Given the description of an element on the screen output the (x, y) to click on. 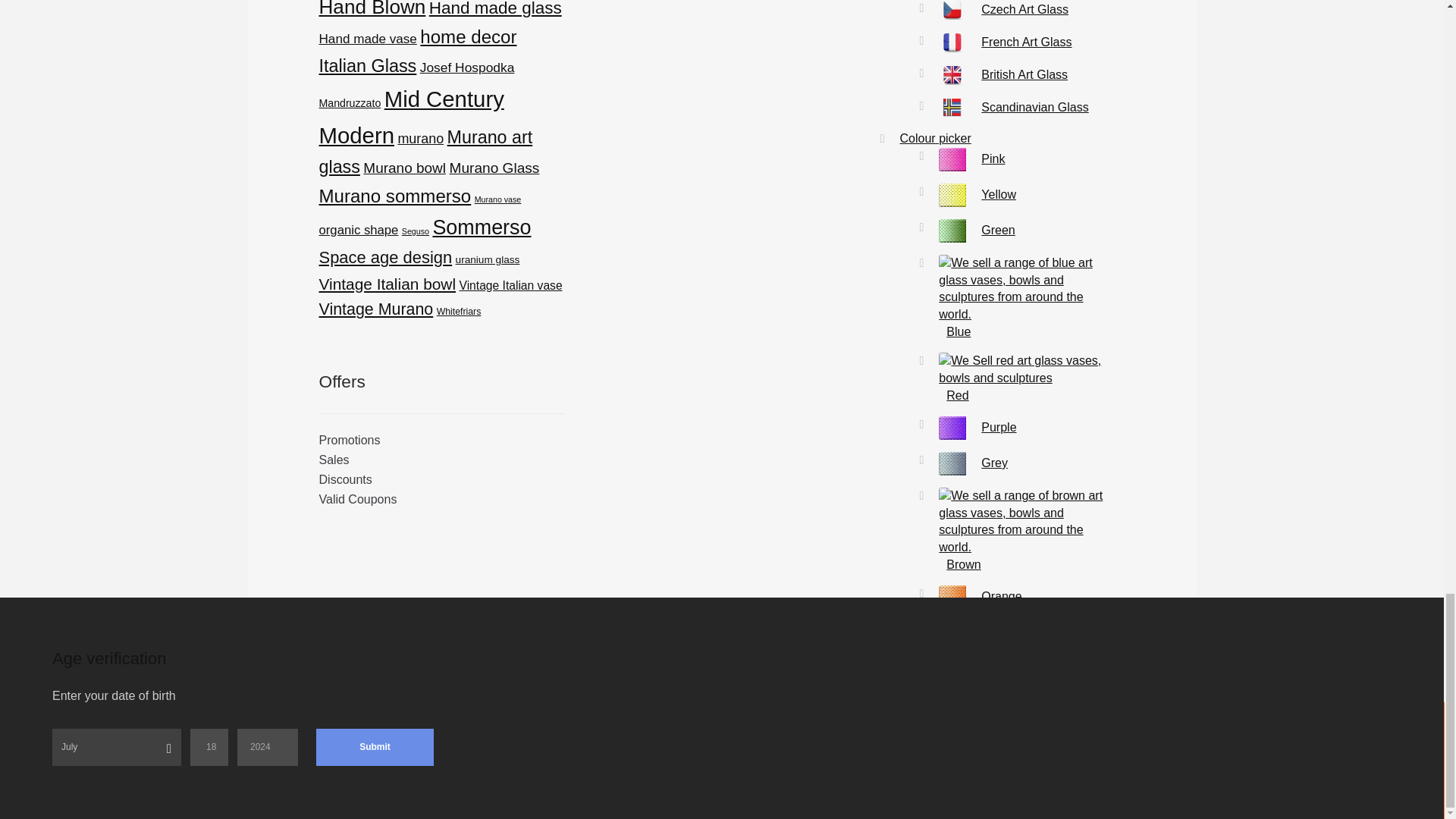
WooCommerce - The Best eCommerce Platform for WordPress (613, 744)
